Given the description of an element on the screen output the (x, y) to click on. 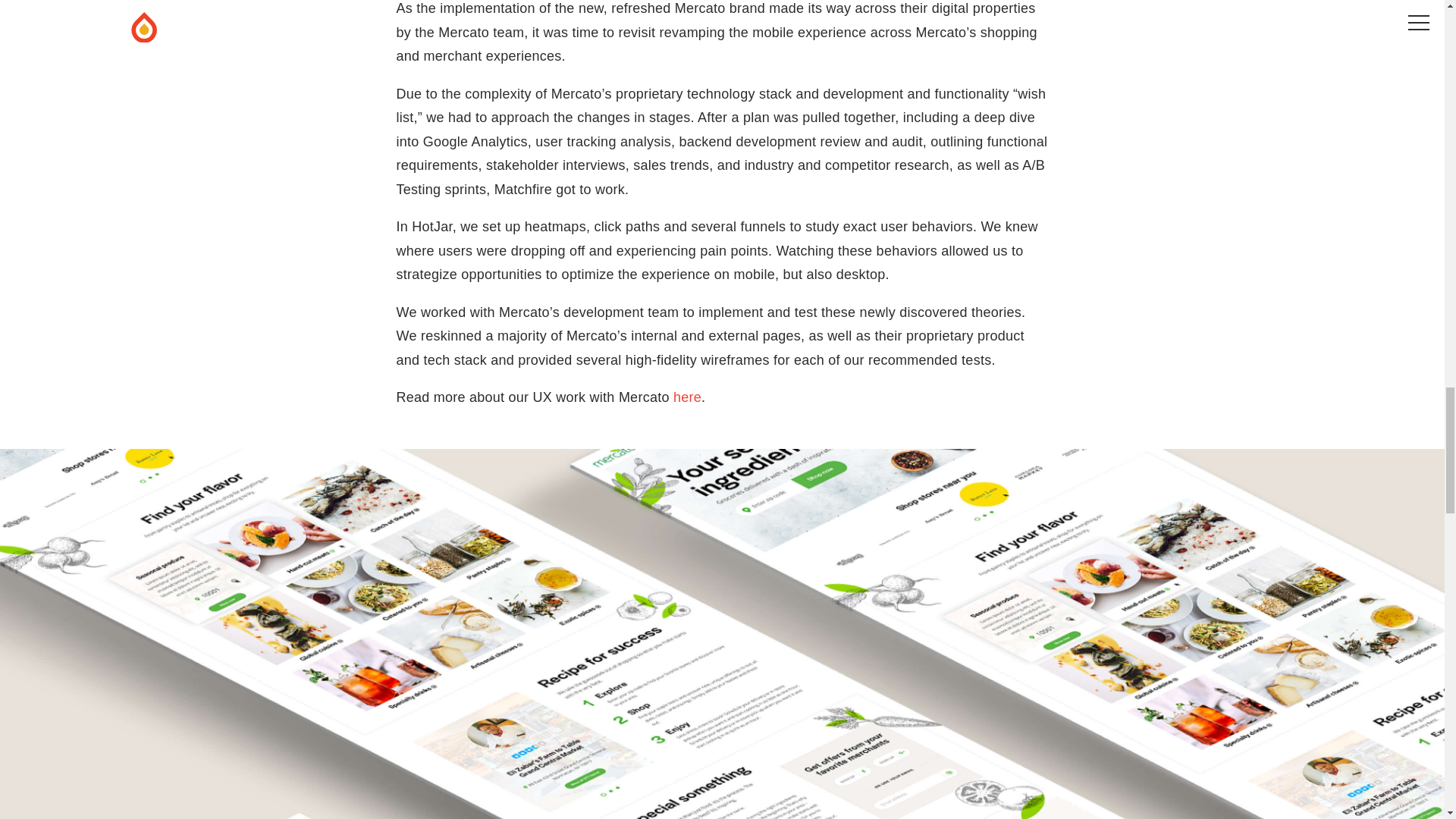
here (686, 397)
